Given the description of an element on the screen output the (x, y) to click on. 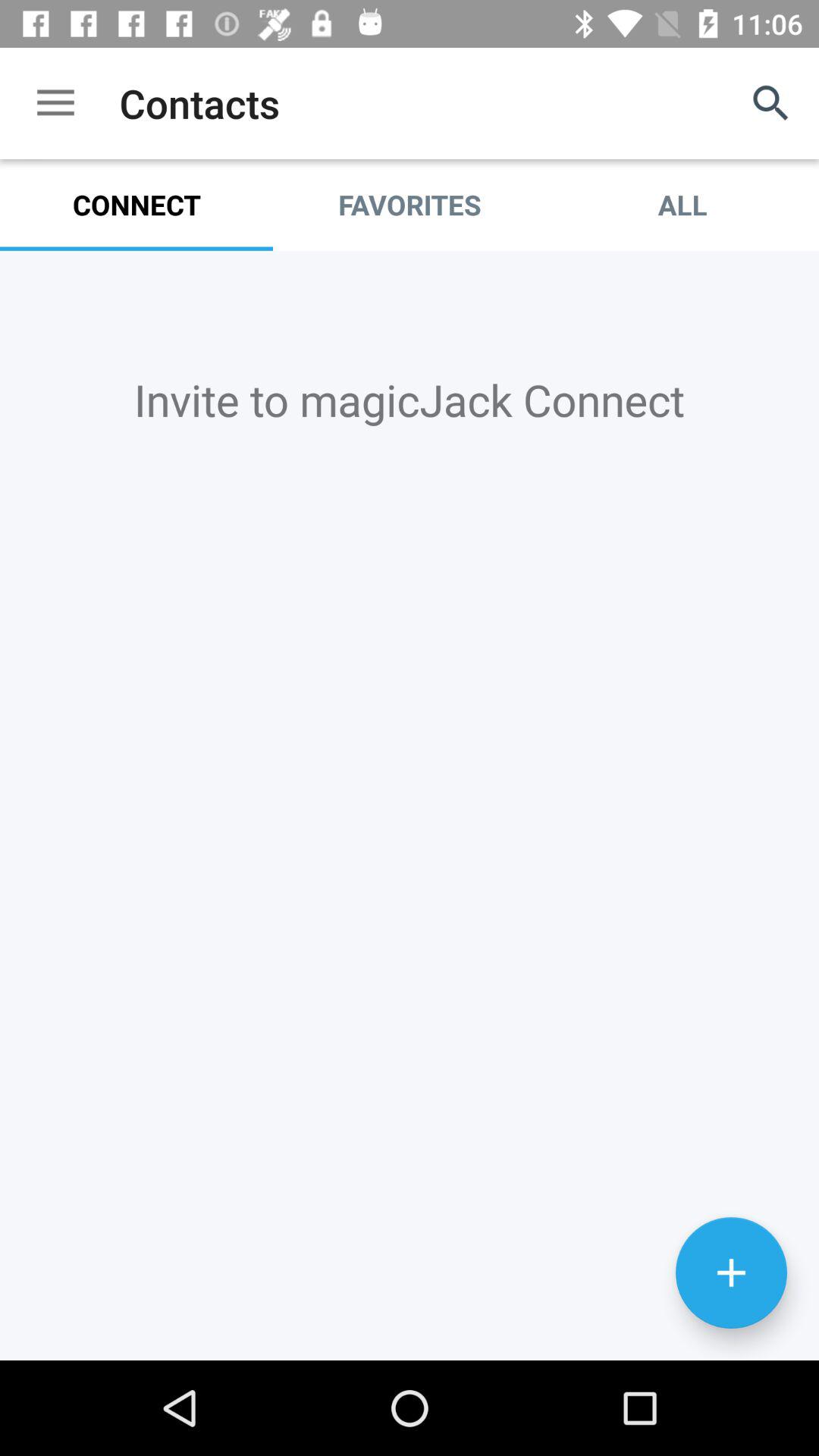
invite to magicjack connect (409, 805)
